Given the description of an element on the screen output the (x, y) to click on. 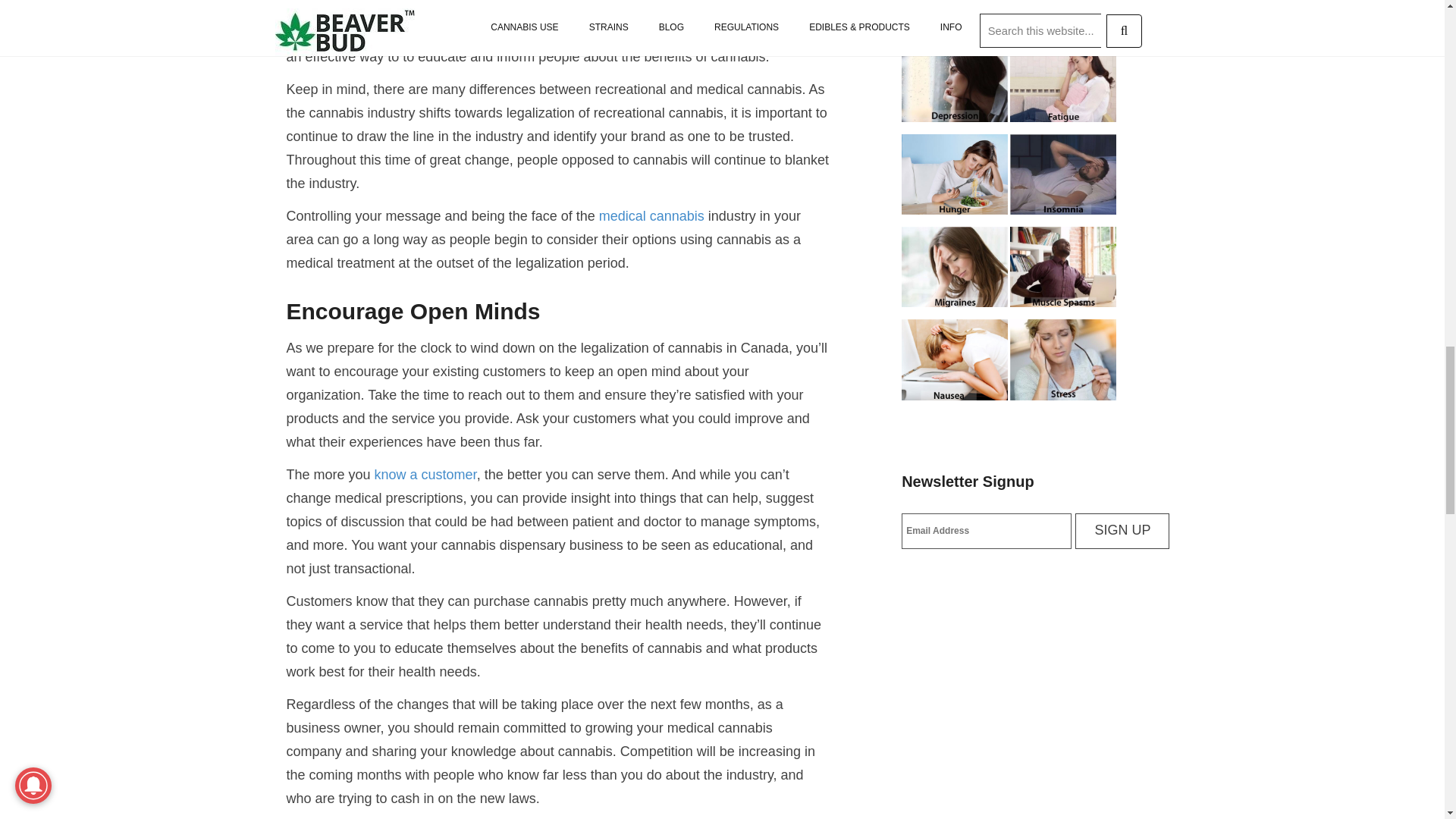
know a customer (425, 474)
Sign Up (1122, 530)
medical cannabis (651, 215)
